Given the description of an element on the screen output the (x, y) to click on. 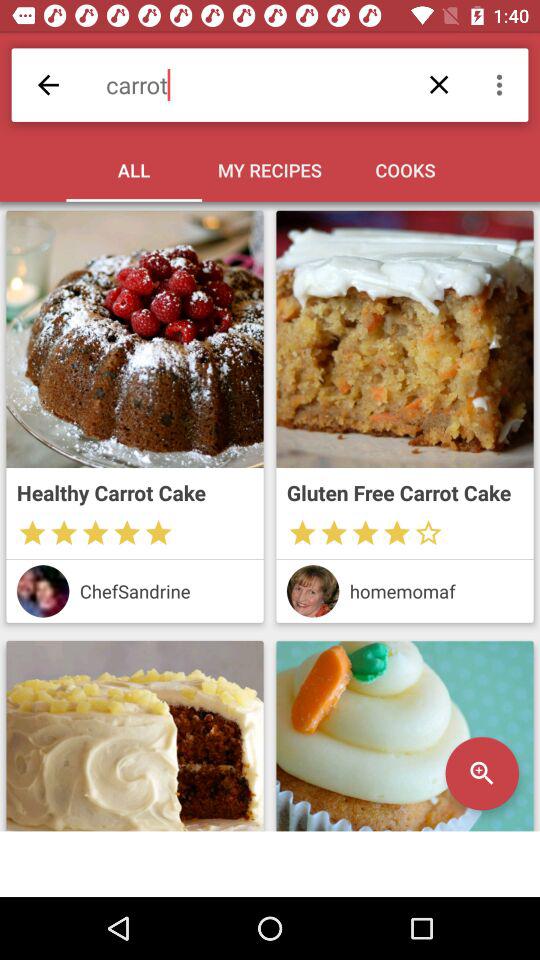
result image (134, 735)
